Given the description of an element on the screen output the (x, y) to click on. 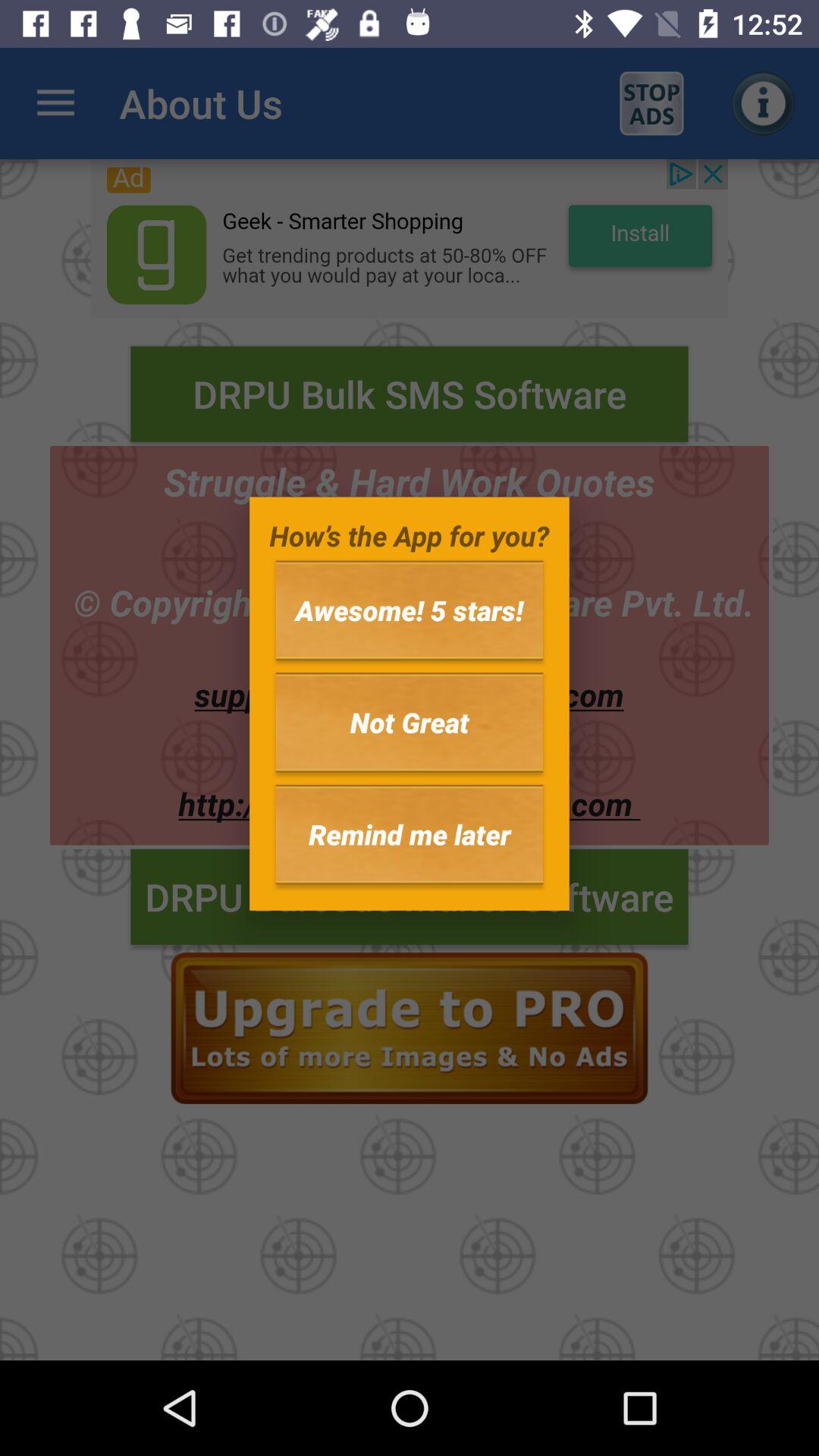
turn on icon below not great (409, 834)
